Given the description of an element on the screen output the (x, y) to click on. 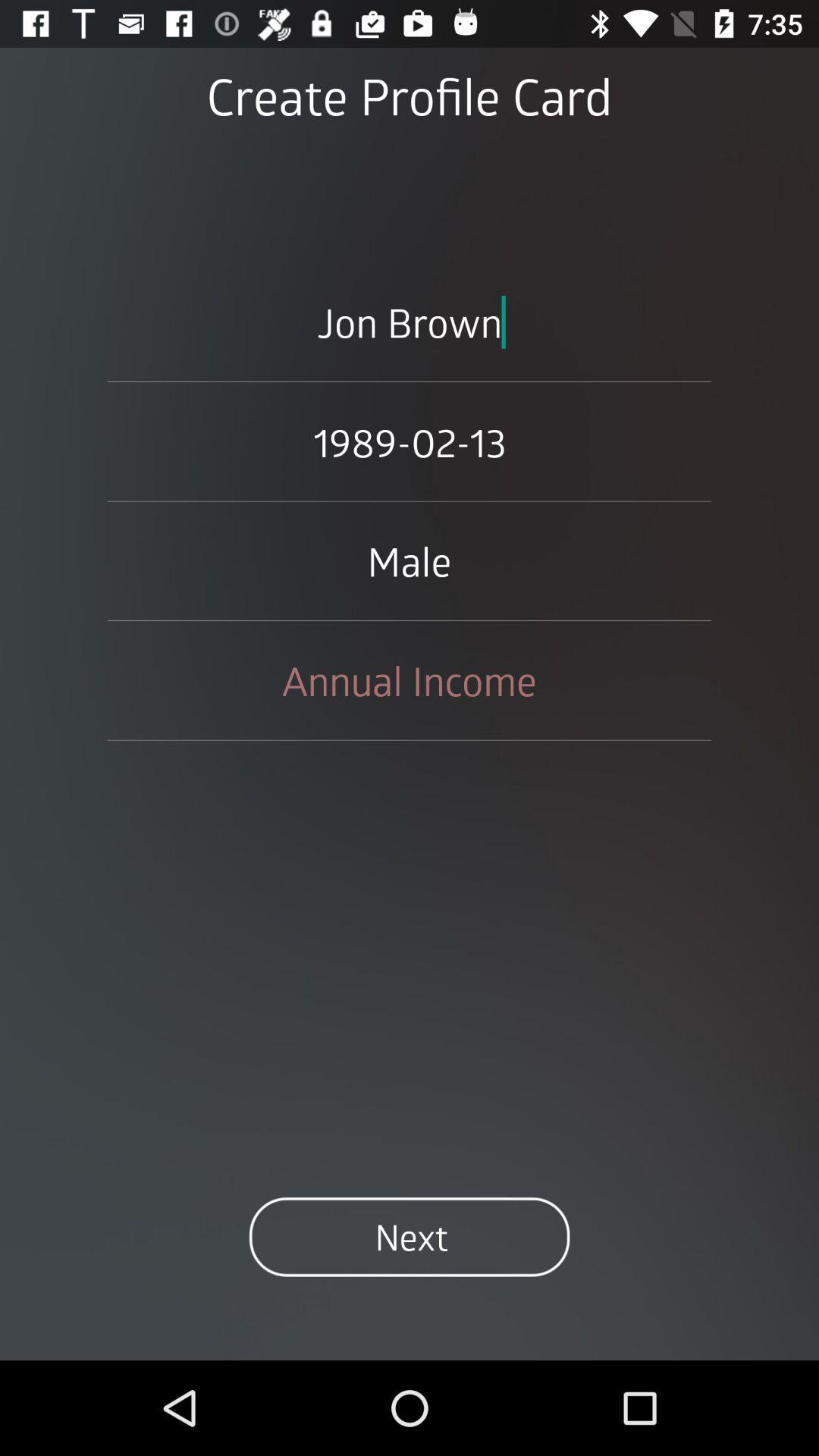
go to annual income (409, 680)
